Given the description of an element on the screen output the (x, y) to click on. 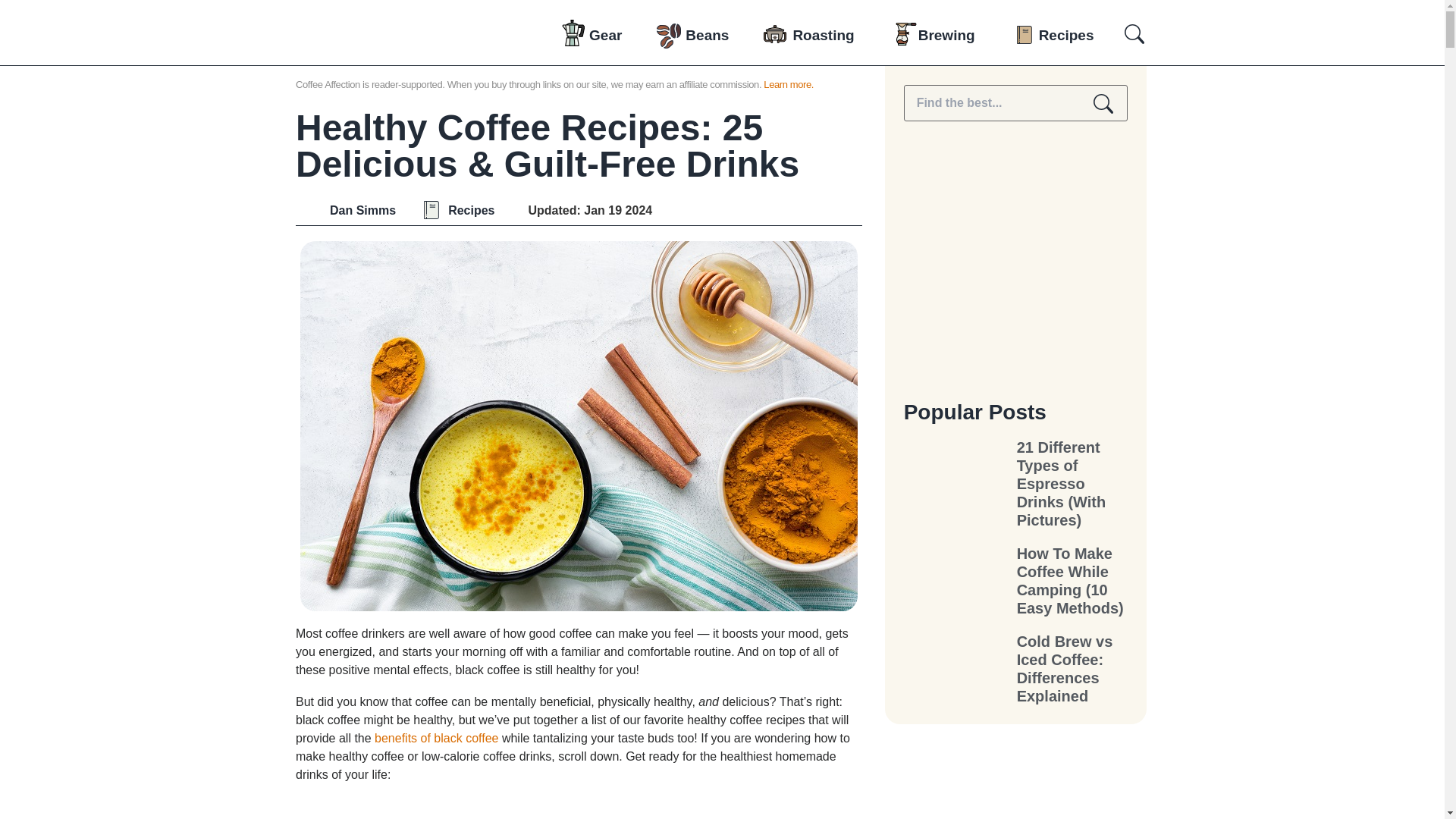
Gear (605, 35)
Recipes (1066, 35)
Brewing (946, 35)
Learn more. (787, 84)
Beans (706, 35)
Dan Simms (345, 211)
Coffee Affection primary logo (376, 92)
Recipes (471, 210)
Roasting (823, 35)
benefits of black coffee (435, 738)
Search (1102, 103)
